Given the description of an element on the screen output the (x, y) to click on. 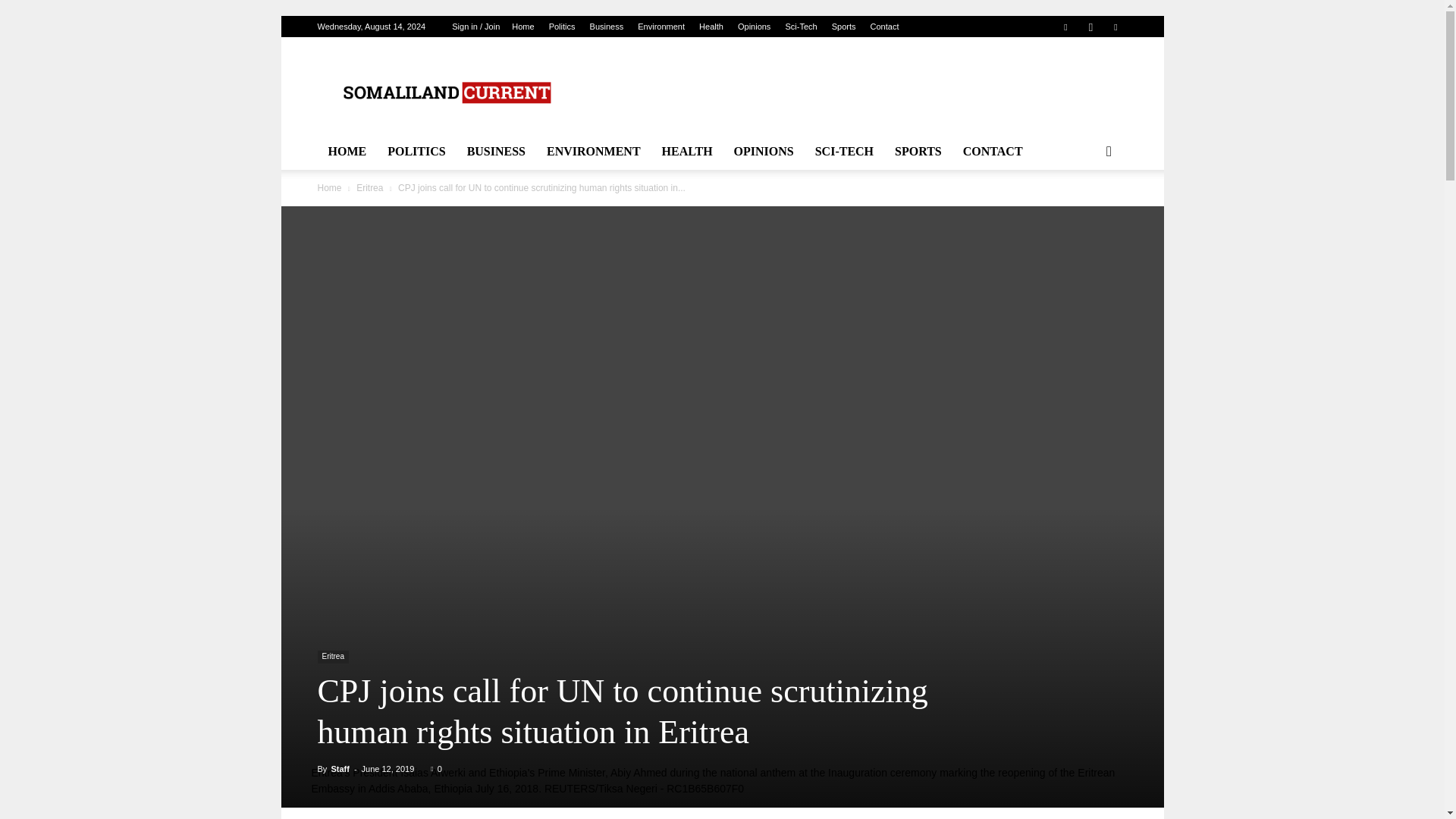
Facebook (1065, 25)
Politics (561, 26)
Instagram (1090, 25)
Home (523, 26)
View all posts in Eritrea (369, 187)
Twitter (1114, 25)
somalilandcurrent.com logo (445, 92)
